Given the description of an element on the screen output the (x, y) to click on. 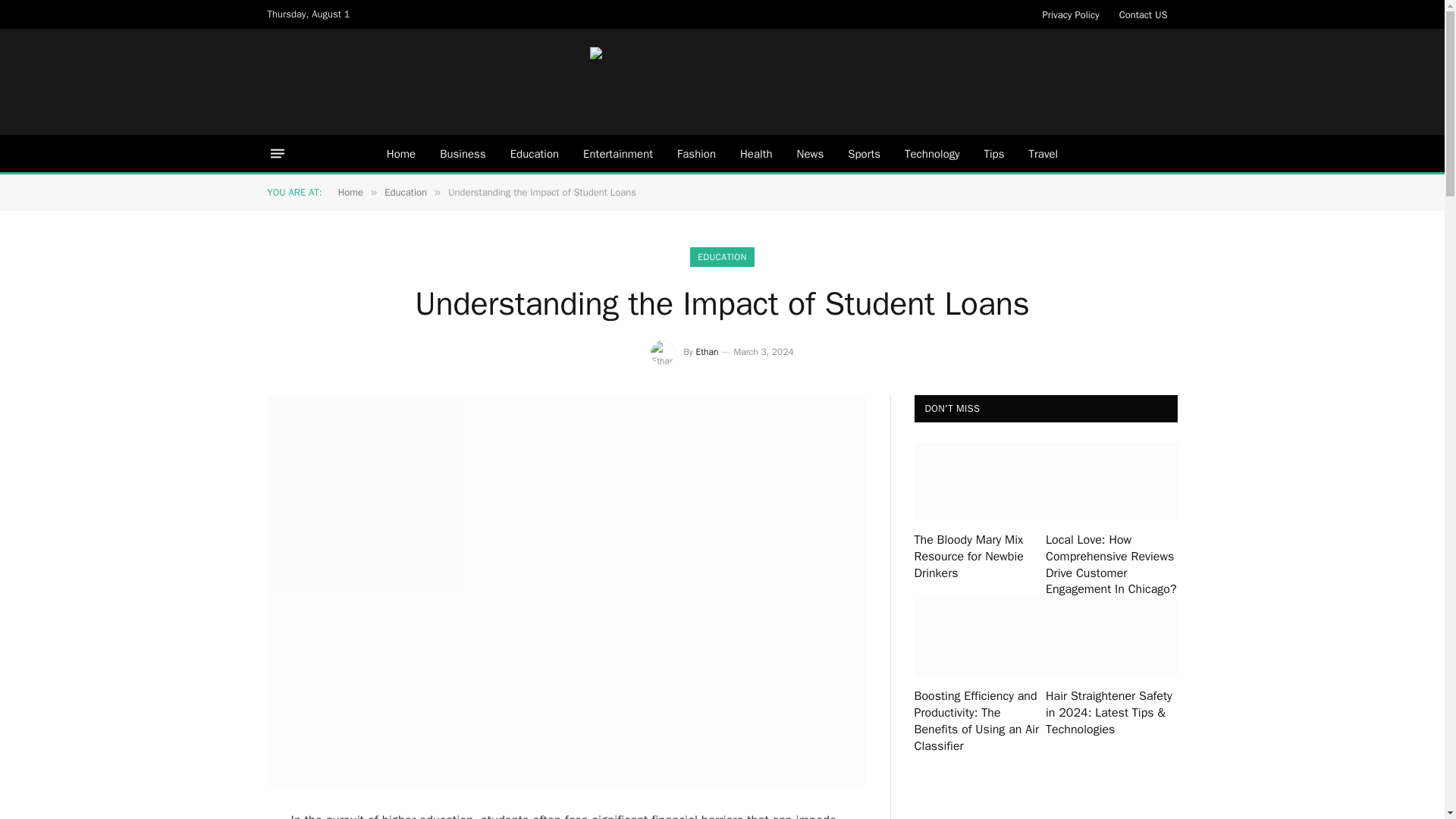
News (809, 153)
Posts by Ethan (707, 351)
Home (401, 153)
EDUCATION (722, 256)
Education (405, 192)
Health (756, 153)
Business (462, 153)
Technology (932, 153)
Education (533, 153)
Home (349, 192)
Sports (863, 153)
Fashion (696, 153)
Privacy Policy (1070, 14)
Contact US (1143, 14)
